Given the description of an element on the screen output the (x, y) to click on. 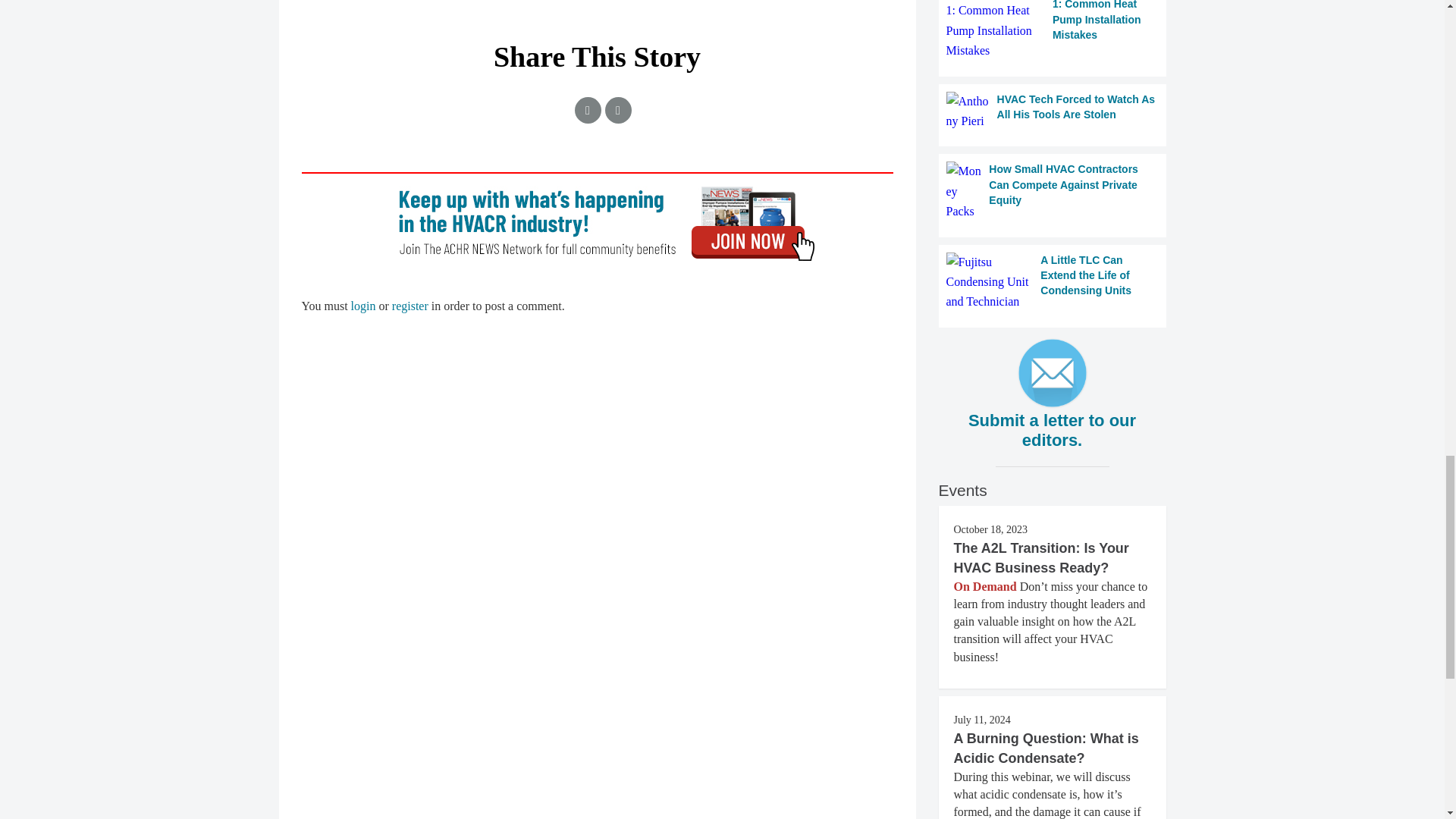
The A2L Transition: Is Your HVAC Business Ready? (1041, 557)
HVAC Tech Forced to Watch As All His Tools Are Stolen (1052, 111)
A Little TLC Can Extend the Life of Condensing Units (1052, 282)
A Burning Question: What is Acidic Condensate? (1045, 748)
